Given the description of an element on the screen output the (x, y) to click on. 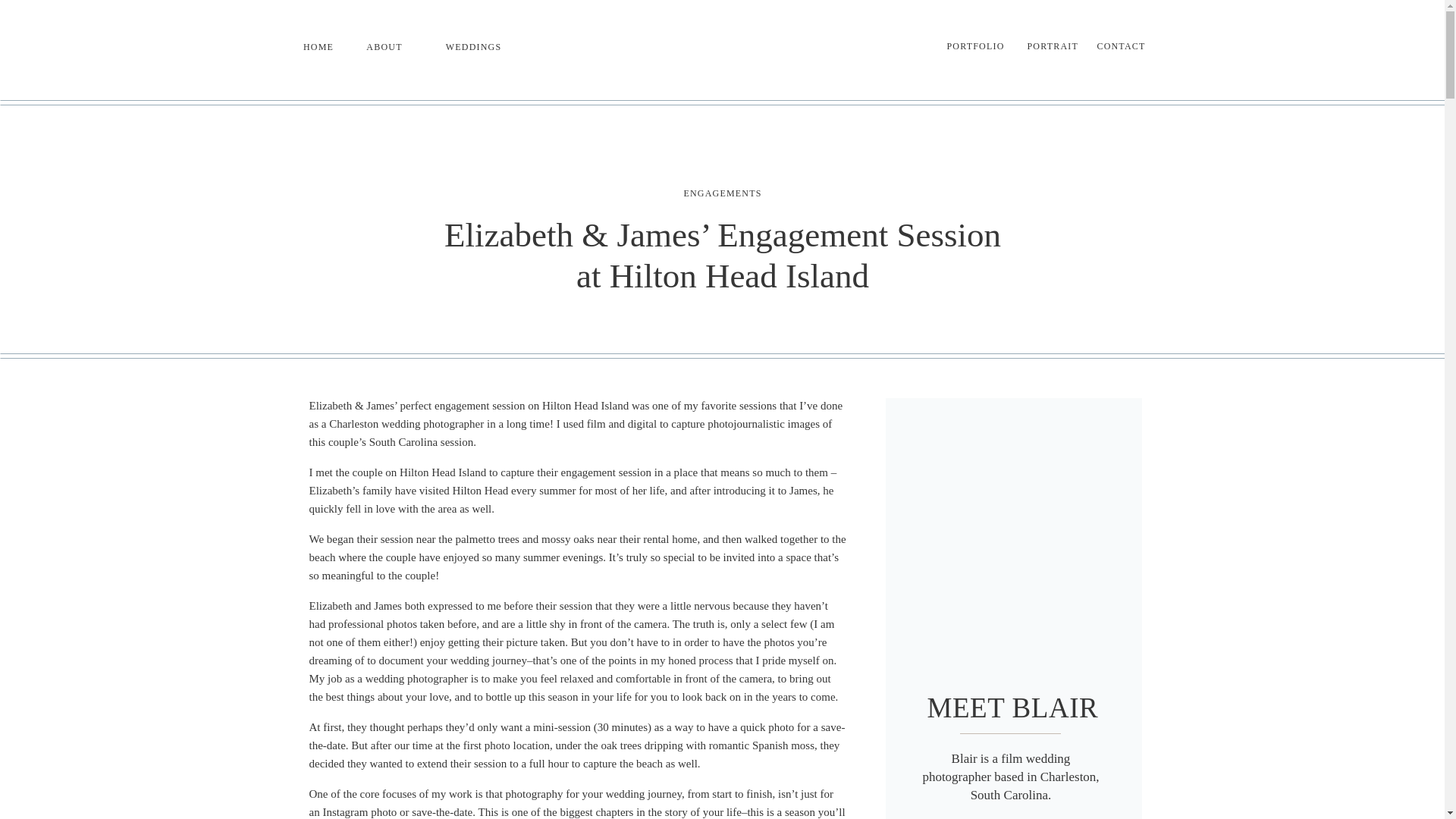
WEDDINGS (472, 47)
CONTACT (1121, 47)
MEET BLAIR (1012, 693)
HOME (317, 47)
PORTRAIT (1048, 47)
ABOUT (385, 47)
PORTFOLIO (976, 47)
ENGAGEMENTS (721, 193)
